Given the description of an element on the screen output the (x, y) to click on. 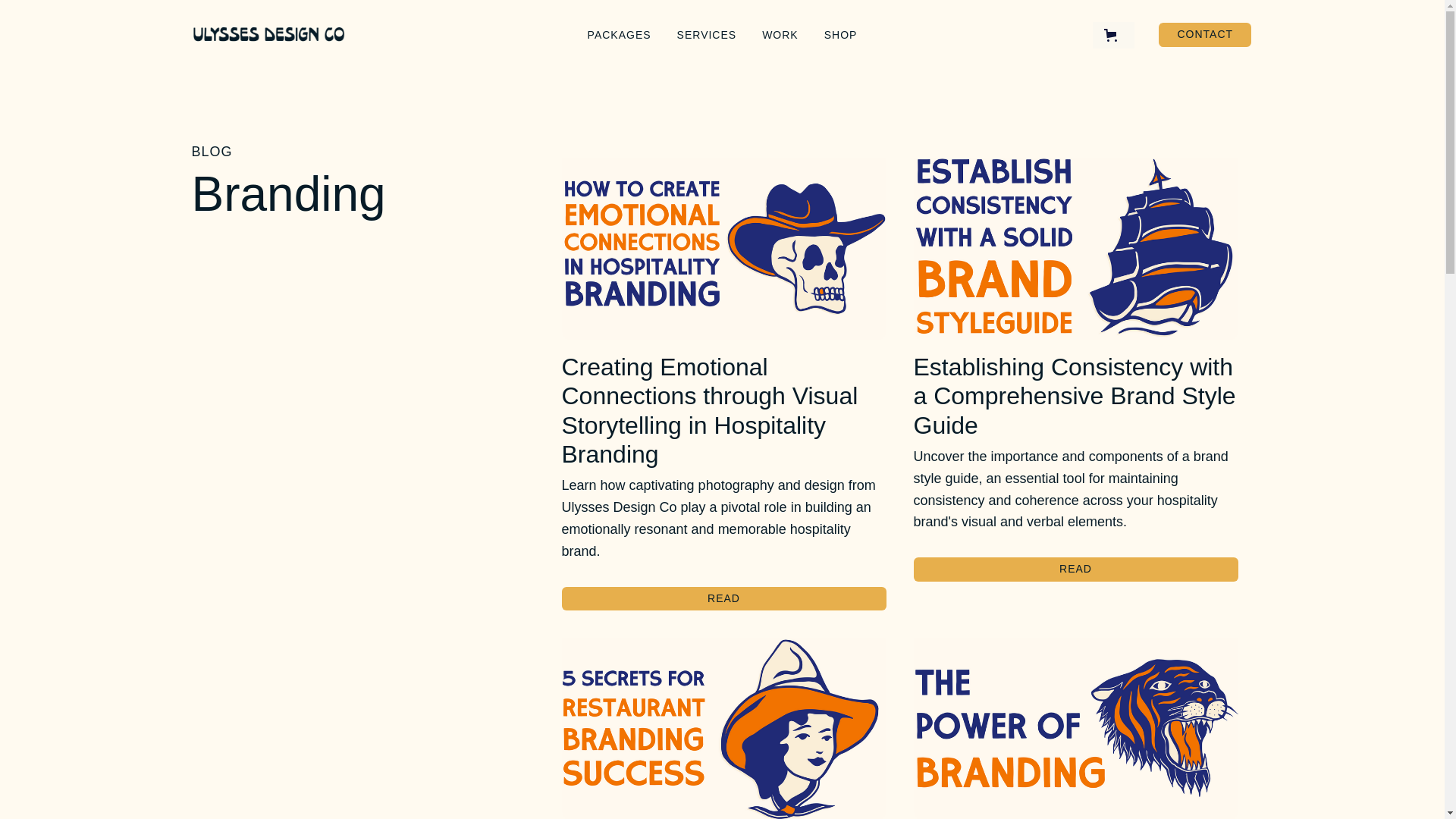
READ (1074, 568)
SERVICES (707, 34)
SHOP (840, 34)
READ (1204, 34)
WORK (722, 598)
PACKAGES (779, 34)
